Given the description of an element on the screen output the (x, y) to click on. 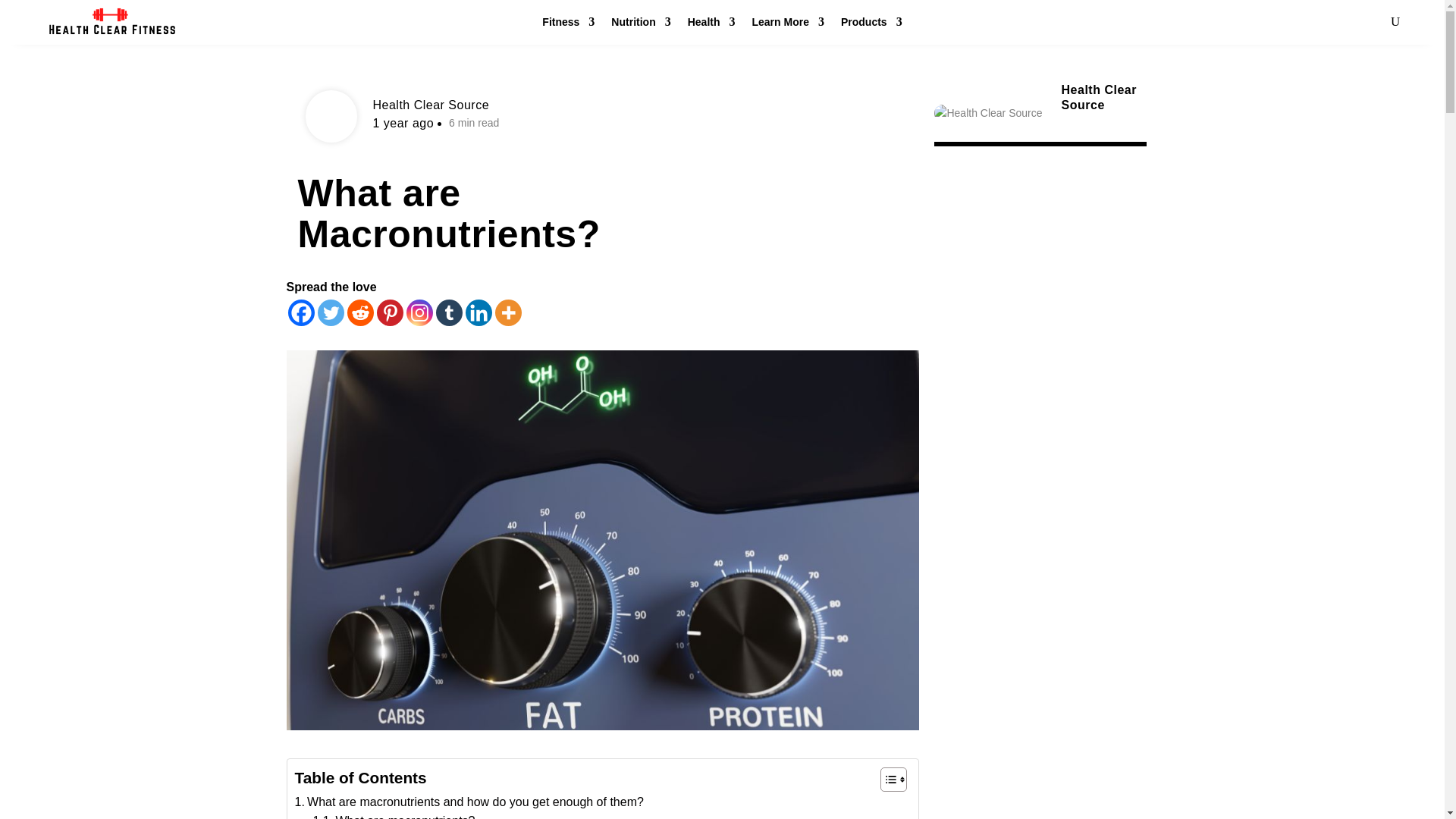
Reddit (360, 312)
Instagram (419, 312)
Facebook (301, 312)
Health (711, 25)
Nutrition (640, 25)
Twitter (330, 312)
Linkedin (478, 312)
More (508, 312)
Pinterest (389, 312)
Fitness (567, 25)
